Given the description of an element on the screen output the (x, y) to click on. 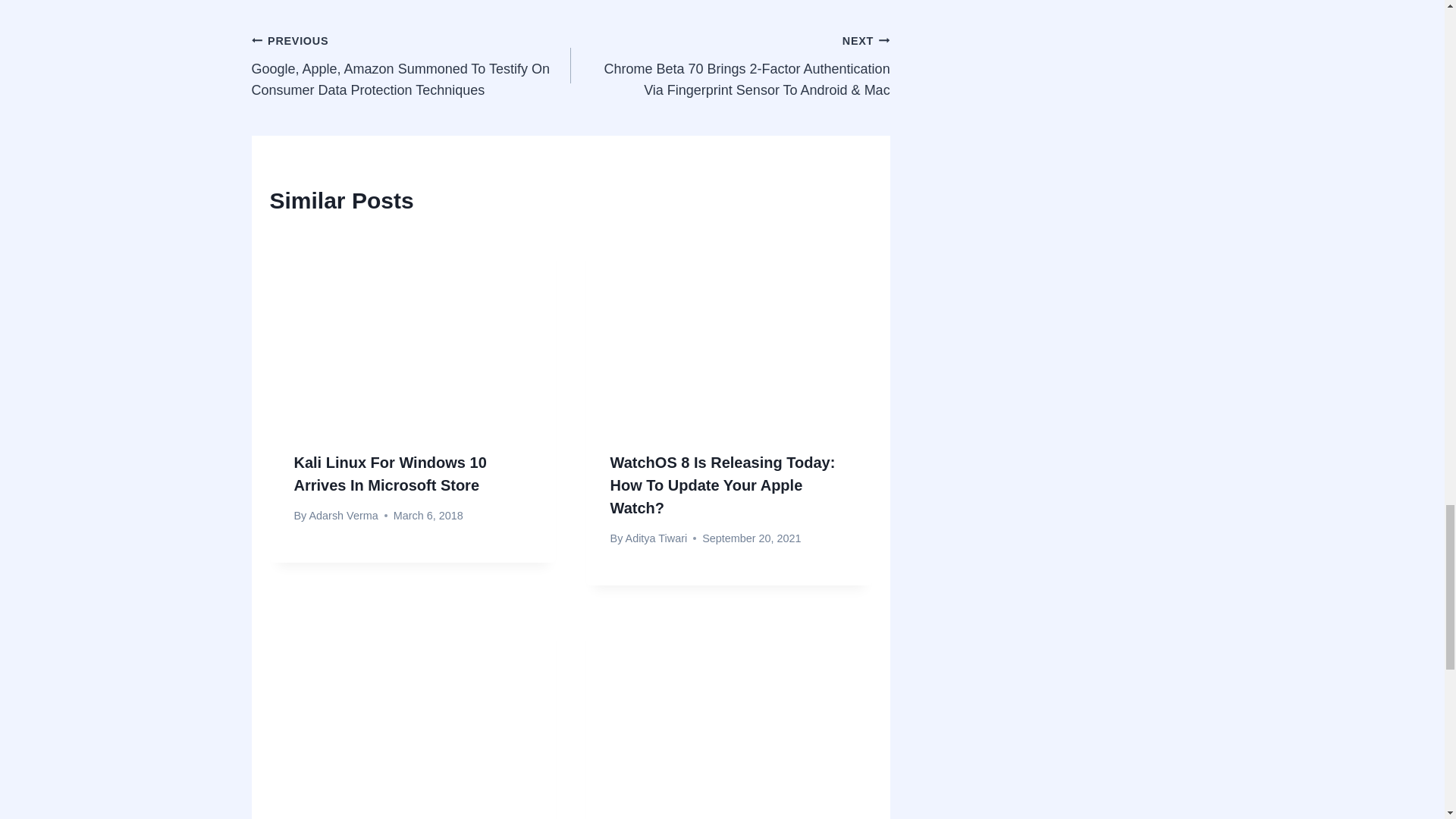
Adarsh Verma (342, 515)
Aditya Tiwari (656, 538)
Kali Linux For Windows 10 Arrives In Microsoft Store (390, 473)
